Given the description of an element on the screen output the (x, y) to click on. 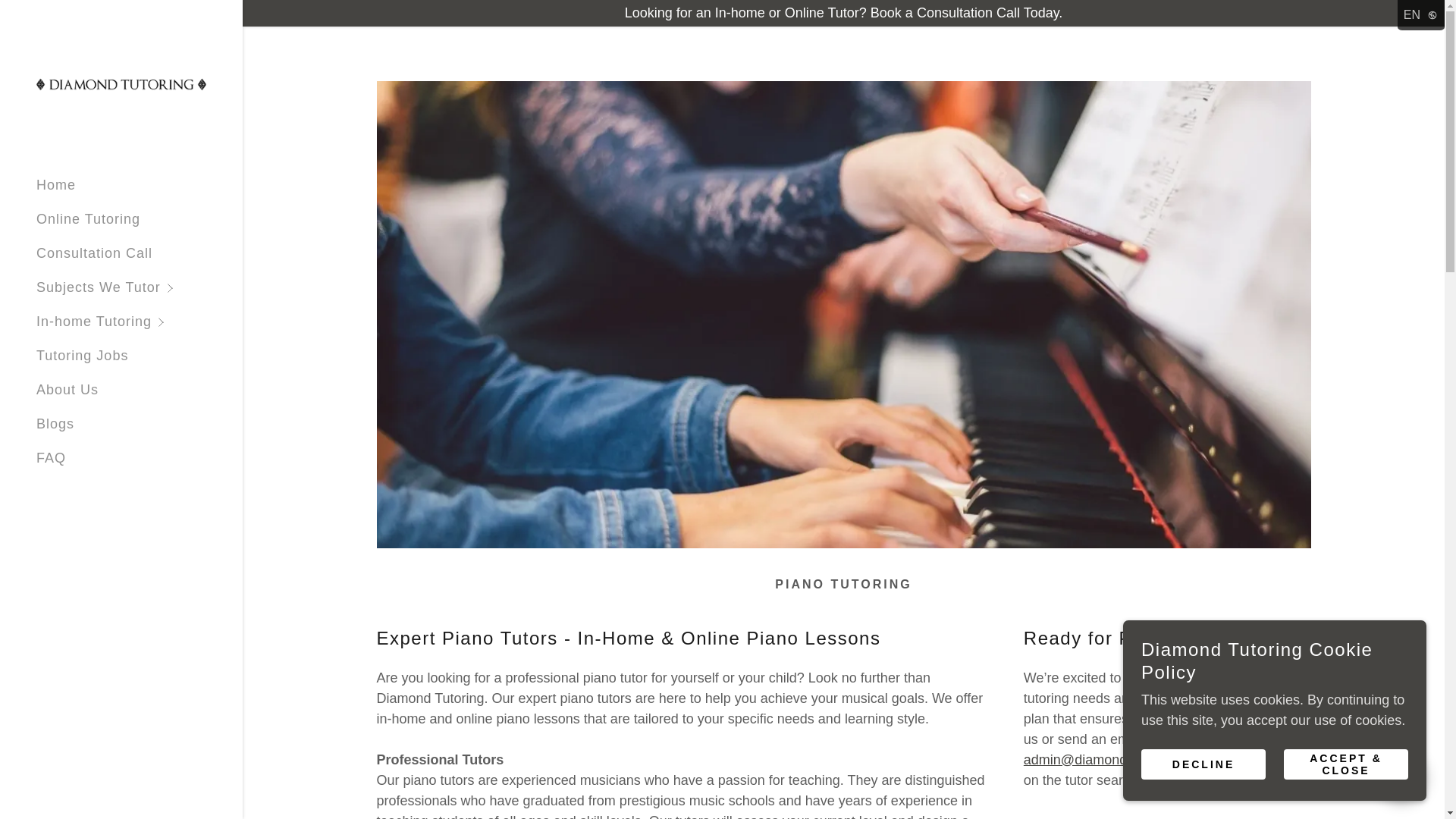
Online Tutoring (87, 218)
Tutoring Jobs (82, 355)
Home (55, 184)
FAQ (50, 458)
About Us (67, 389)
Subjects We Tutor (139, 287)
In-home Tutoring (139, 321)
Consultation Call (94, 253)
Blogs (55, 423)
